Given the description of an element on the screen output the (x, y) to click on. 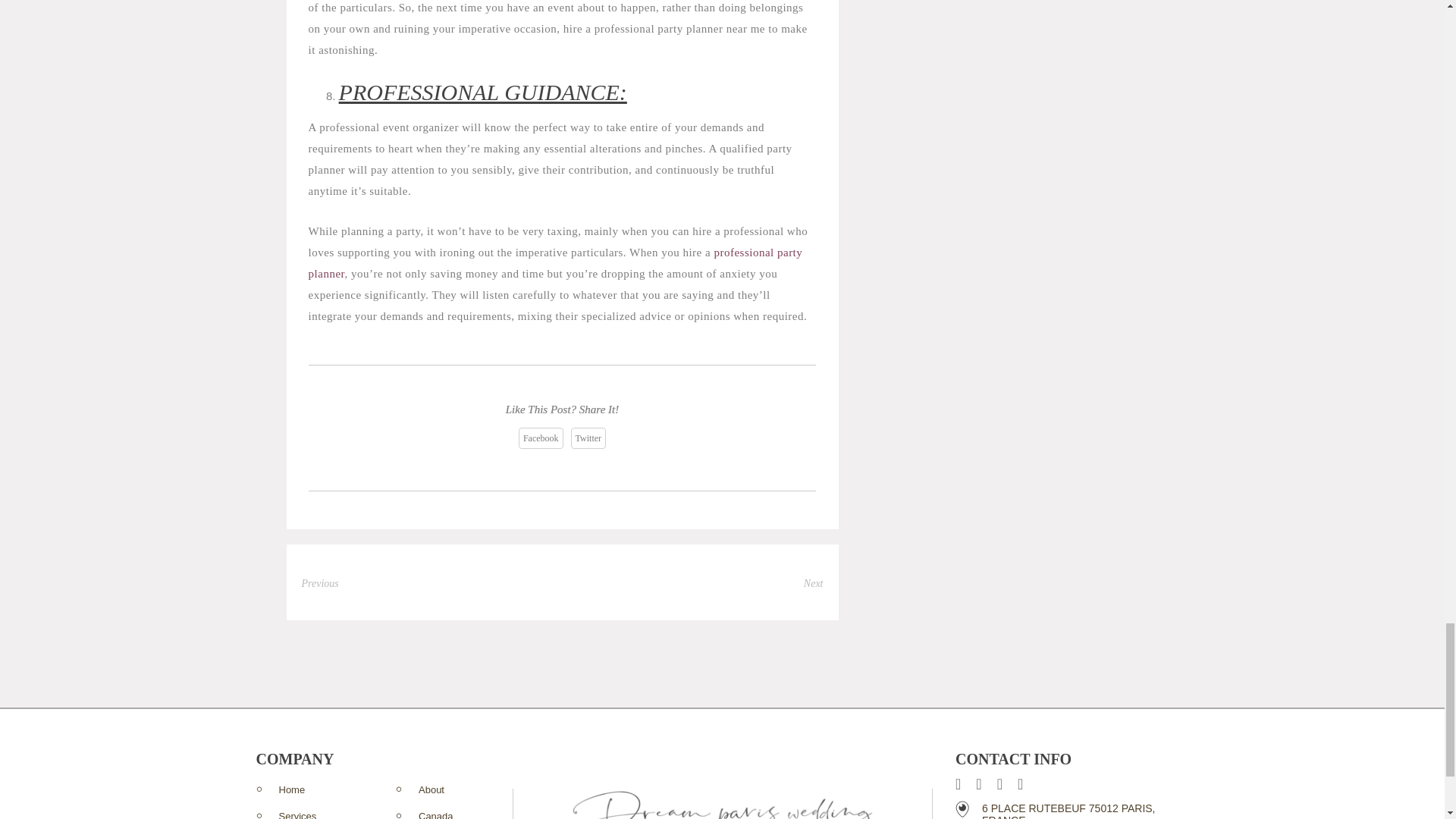
Next (813, 583)
Twitter (587, 437)
Home (292, 789)
About (431, 789)
Services (298, 814)
Previous (320, 583)
professional party planner (555, 263)
Facebook (540, 437)
Canada (435, 814)
